Given the description of an element on the screen output the (x, y) to click on. 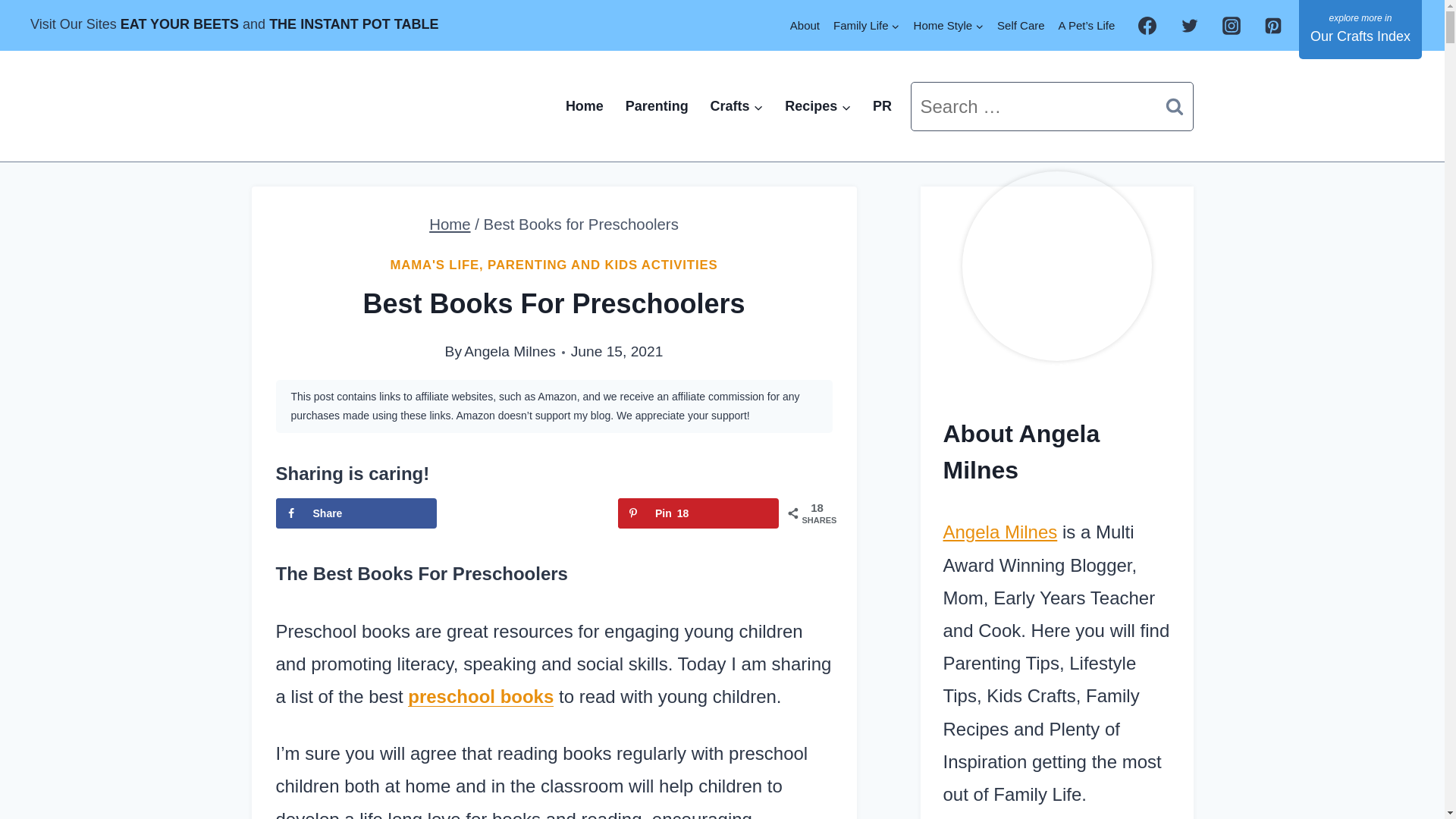
Home Style (949, 25)
EAT YOUR BEETS (179, 23)
Share on Facebook (356, 512)
preschool books (697, 512)
Angela Milnes (480, 696)
Share (510, 351)
PR (356, 512)
Share on X (881, 105)
THE INSTANT POT TABLE (526, 512)
Home (353, 23)
Tweet (584, 105)
About (526, 512)
Crafts (805, 25)
Home (736, 105)
